Given the description of an element on the screen output the (x, y) to click on. 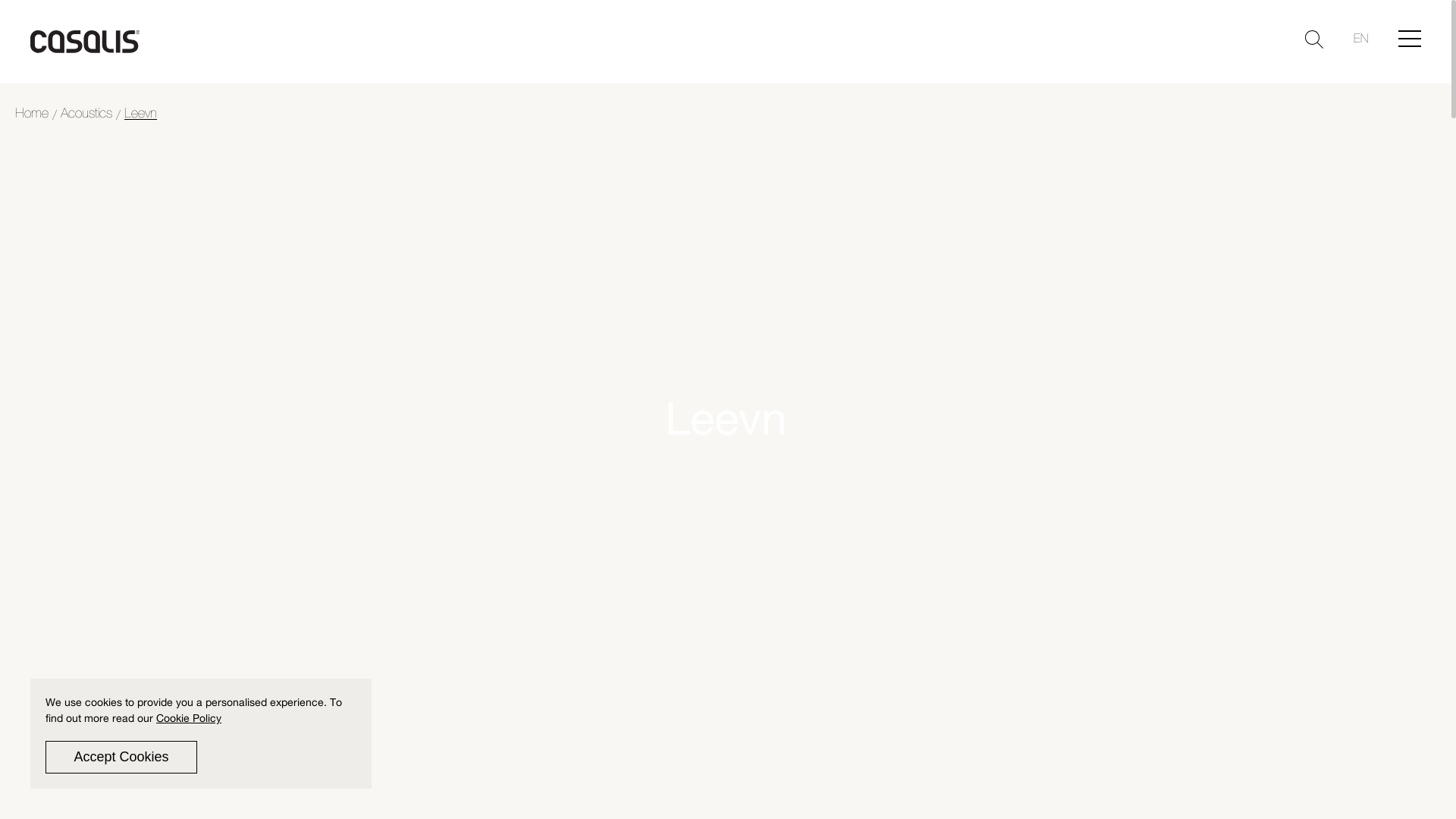
Acoustics Element type: text (86, 112)
Cookie Policy Element type: text (188, 717)
Leevn Element type: text (140, 112)
EN Element type: text (1360, 38)
Home Element type: text (31, 112)
Accept Cookies Element type: text (121, 756)
